Given the description of an element on the screen output the (x, y) to click on. 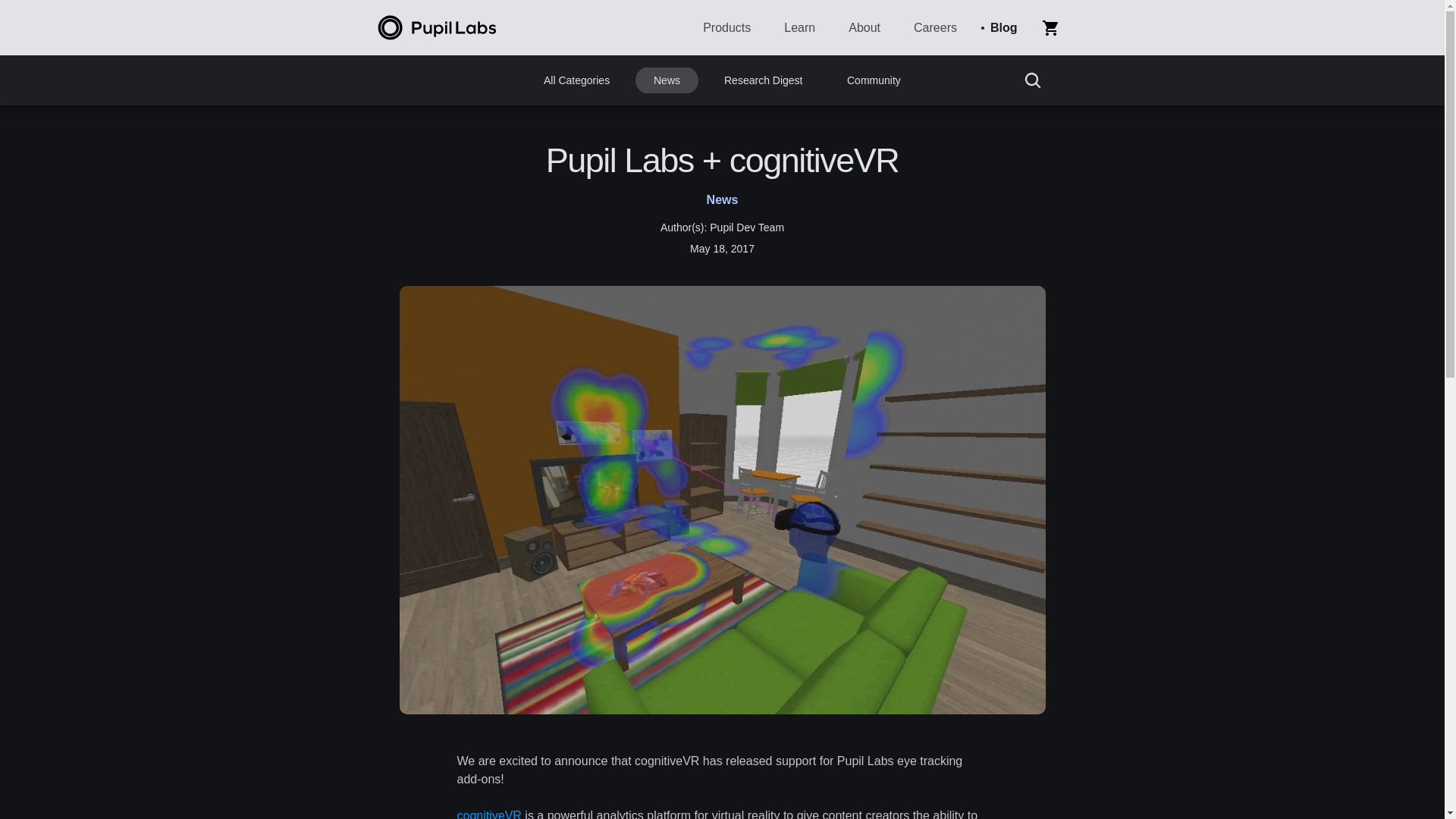
Research Digest (763, 80)
All Categories (576, 80)
Products (722, 27)
About (859, 27)
Blog (999, 27)
Careers (930, 27)
Community (873, 80)
cognitiveVR (489, 814)
Learn (794, 27)
News (666, 80)
